Given the description of an element on the screen output the (x, y) to click on. 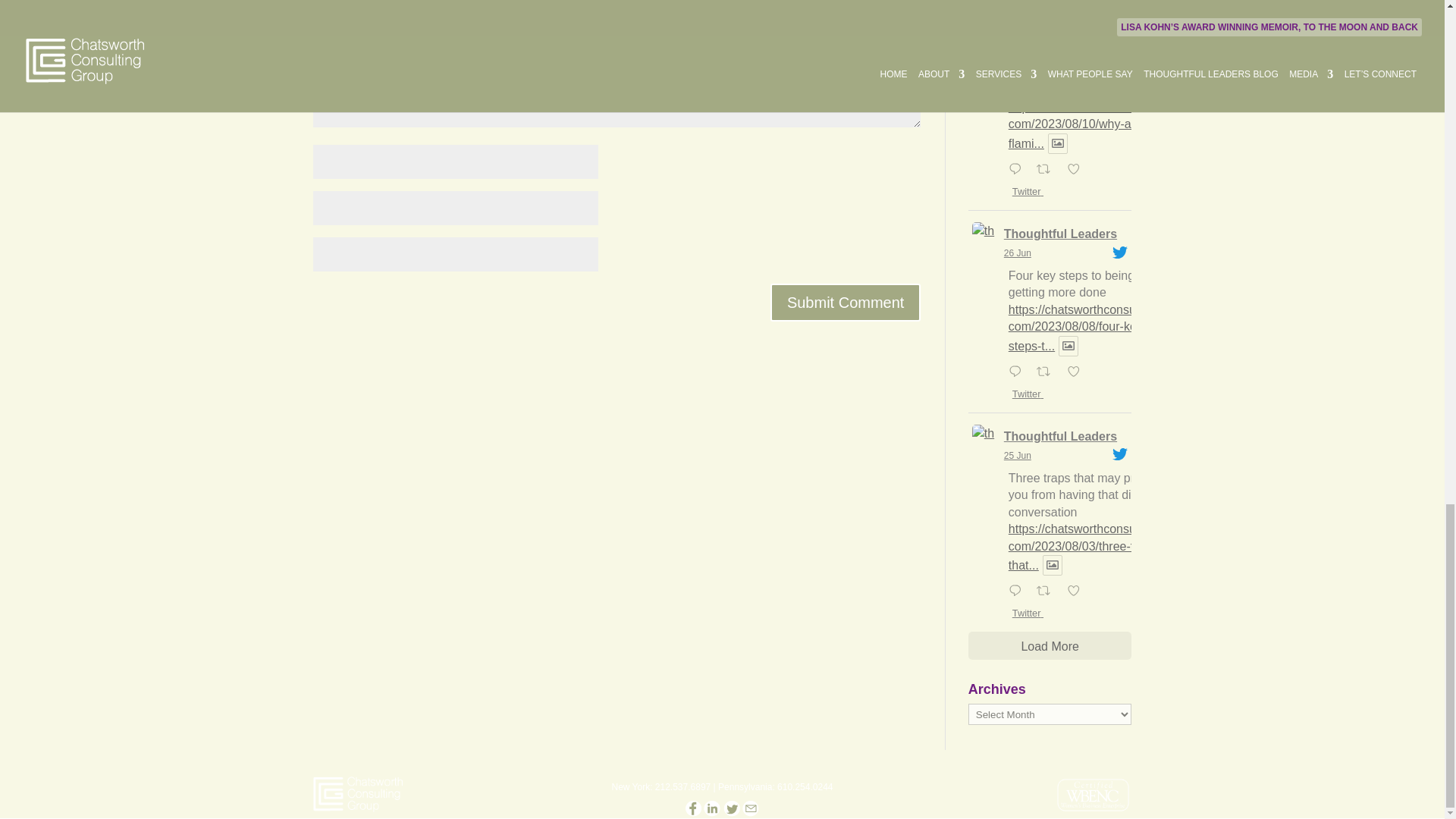
Submit Comment (845, 302)
